Given the description of an element on the screen output the (x, y) to click on. 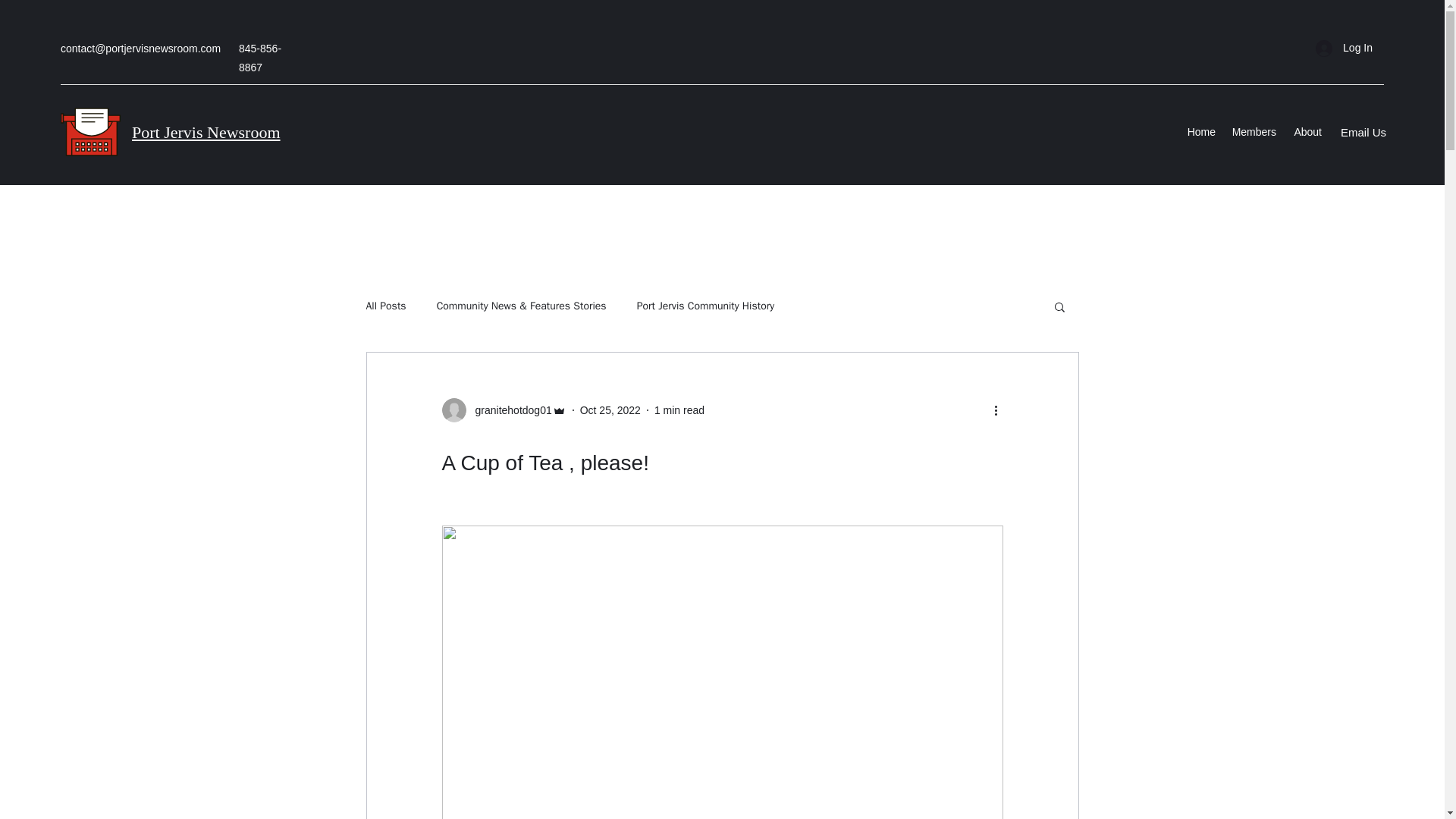
Port Jervis Newsroom (206, 131)
About (1306, 131)
Log In (1343, 48)
1 min read (678, 410)
Home (1201, 131)
Members (1253, 131)
Port Jervis Community History (705, 305)
All Posts (385, 305)
granitehotdog01 (508, 410)
granitehotdog01 (503, 410)
